Given the description of an element on the screen output the (x, y) to click on. 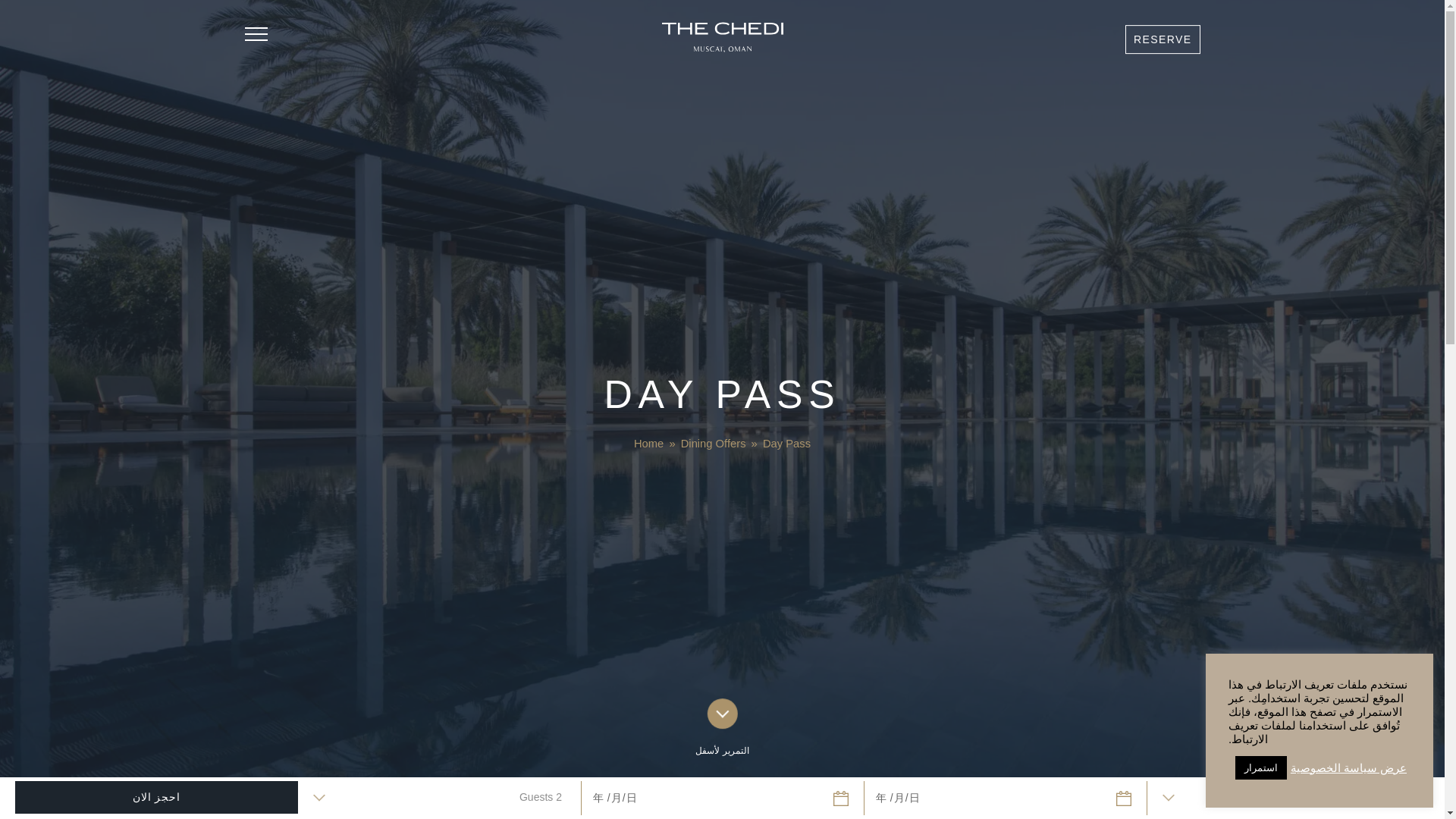
RESERVE (1162, 39)
Check Availability (1162, 39)
